Given the description of an element on the screen output the (x, y) to click on. 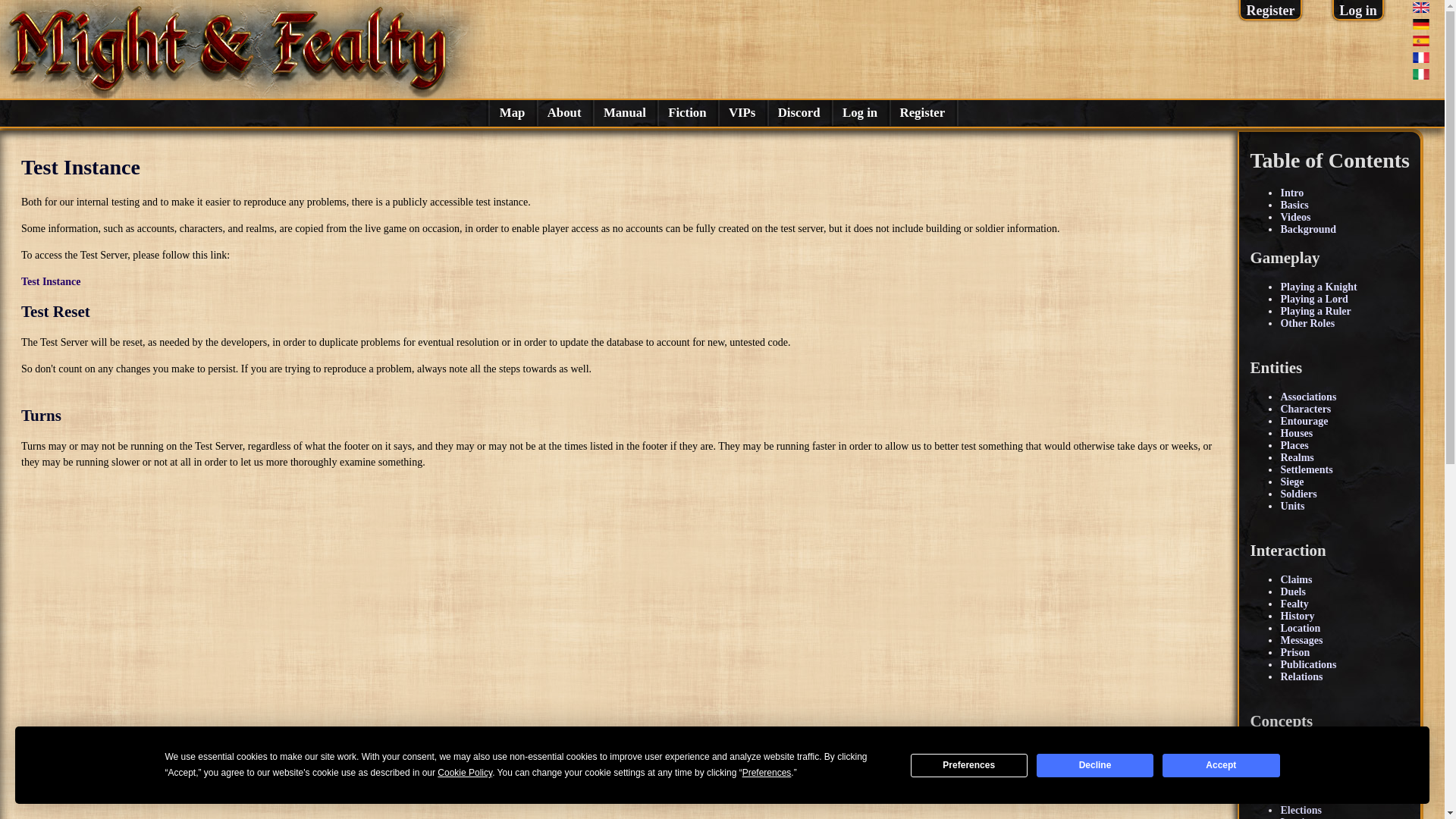
Claims (1295, 579)
Register (922, 112)
Videos (1294, 216)
Log in (1358, 10)
Entourage (1303, 420)
Playing a Ruler (1315, 310)
VIPs (742, 112)
Accept (1220, 765)
Houses (1296, 432)
Playing a Knight (1317, 286)
Settlements (1305, 469)
Playing a Lord (1313, 298)
Places (1293, 445)
italiano (1420, 73)
Decline (1094, 765)
